Given the description of an element on the screen output the (x, y) to click on. 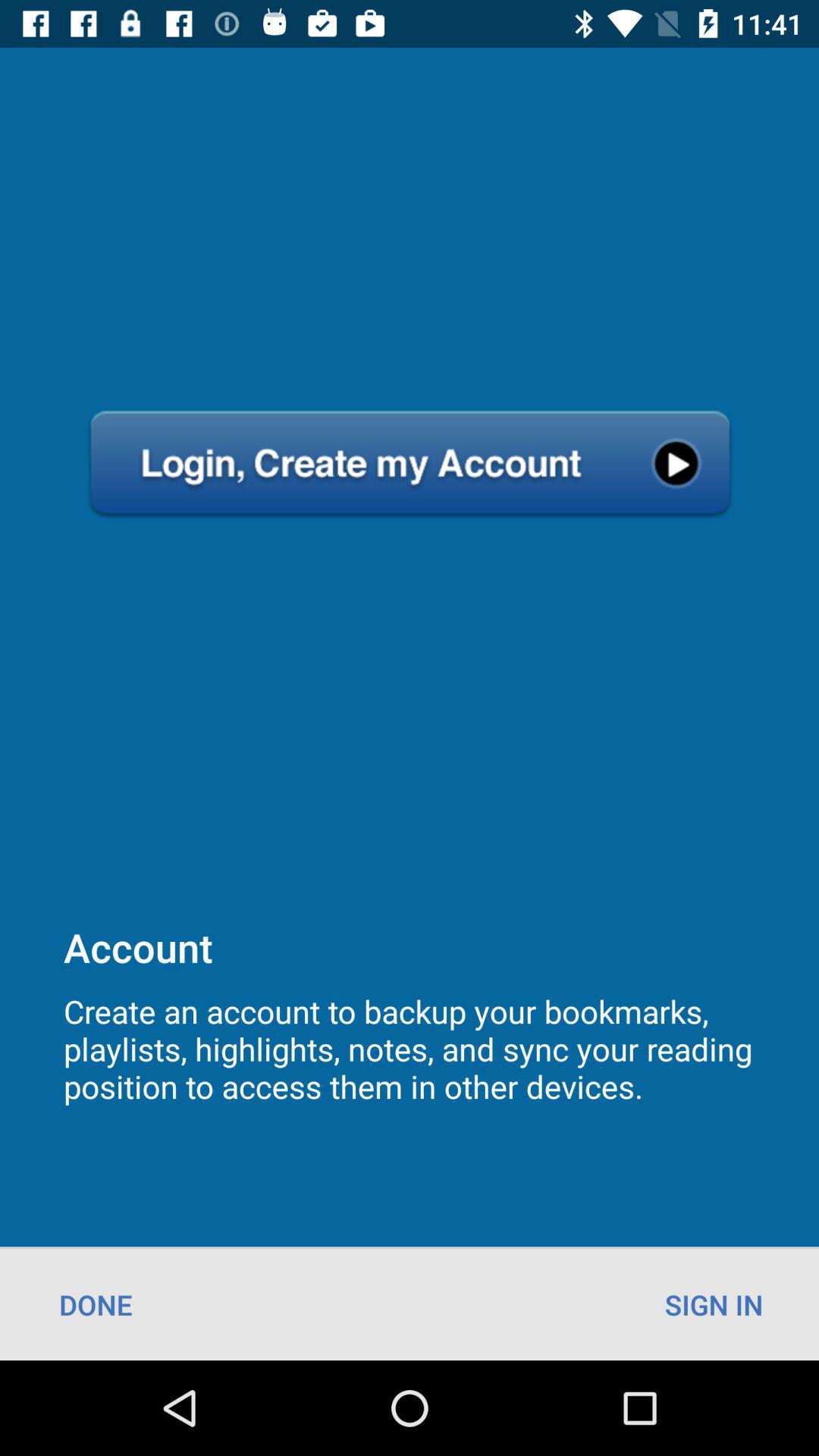
select icon next to the sign in (95, 1304)
